Given the description of an element on the screen output the (x, y) to click on. 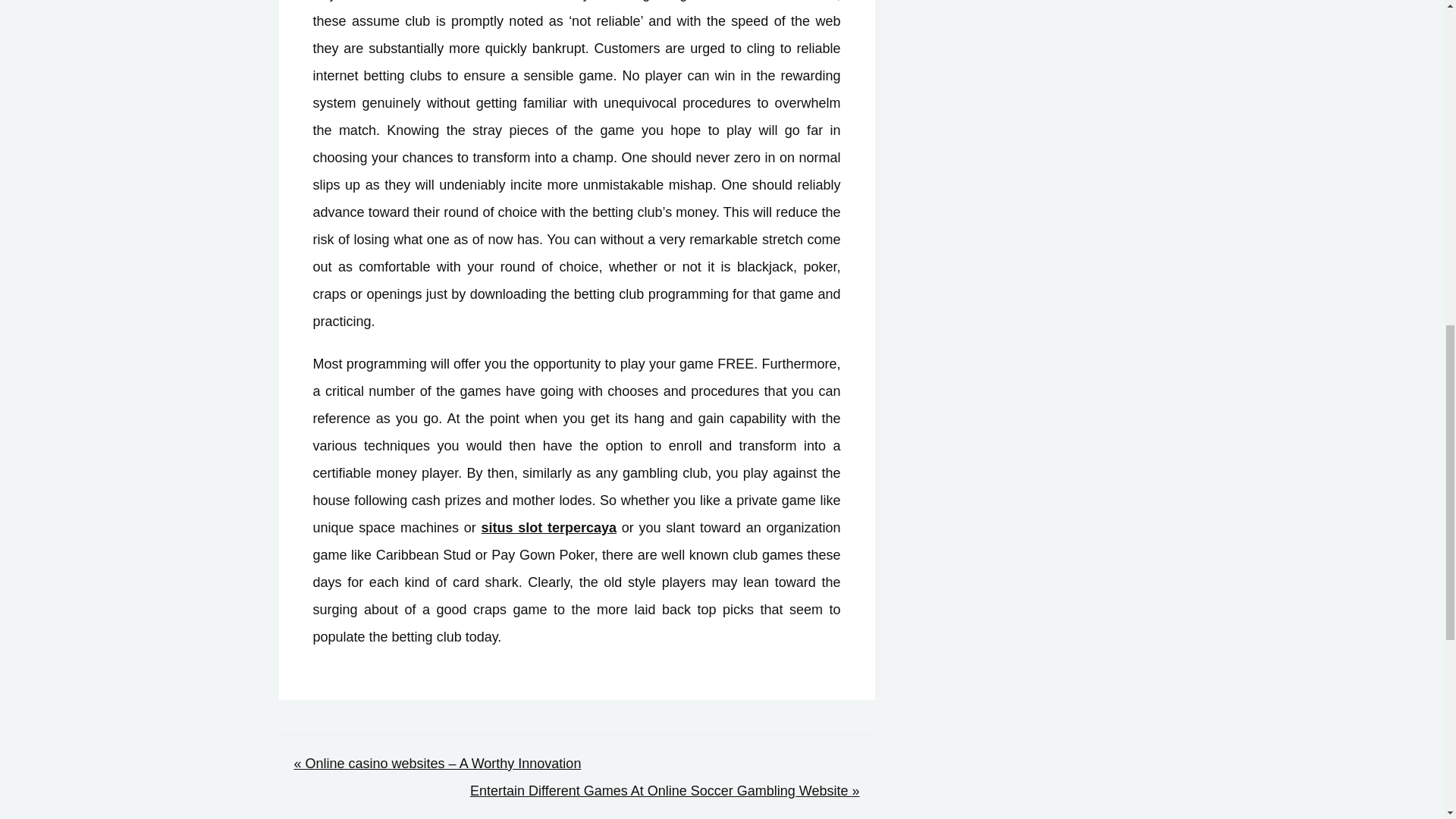
situs slot terpercaya (547, 527)
